Given the description of an element on the screen output the (x, y) to click on. 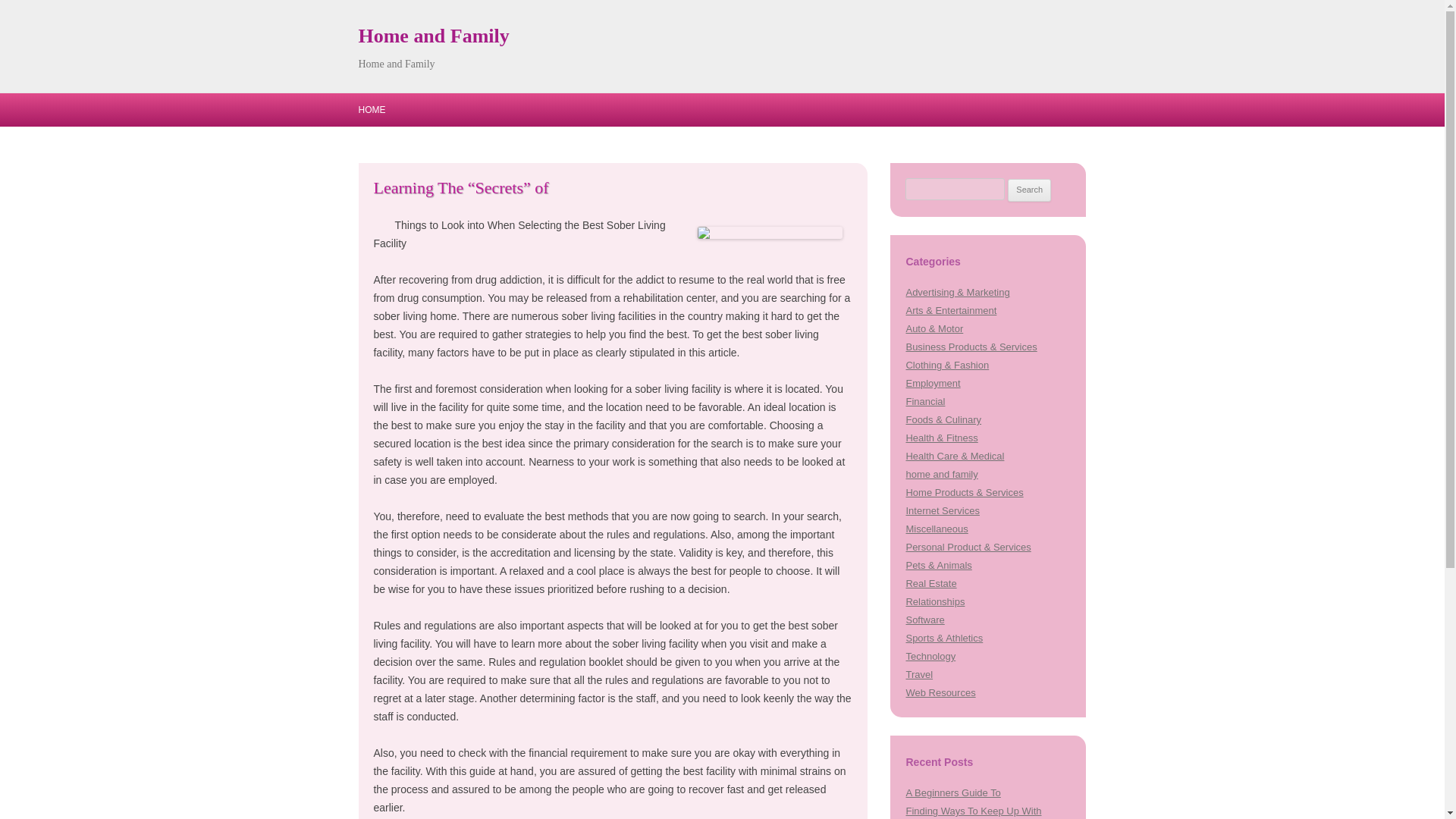
Financial (924, 401)
Search (1029, 190)
Technology (930, 655)
Software (924, 619)
Web Resources (940, 692)
Internet Services (941, 510)
home and family (940, 473)
Relationships (934, 601)
Travel (919, 674)
Home and Family (433, 36)
A Beginners Guide To (952, 792)
Miscellaneous (936, 528)
Home and Family (433, 36)
Employment (932, 383)
